Given the description of an element on the screen output the (x, y) to click on. 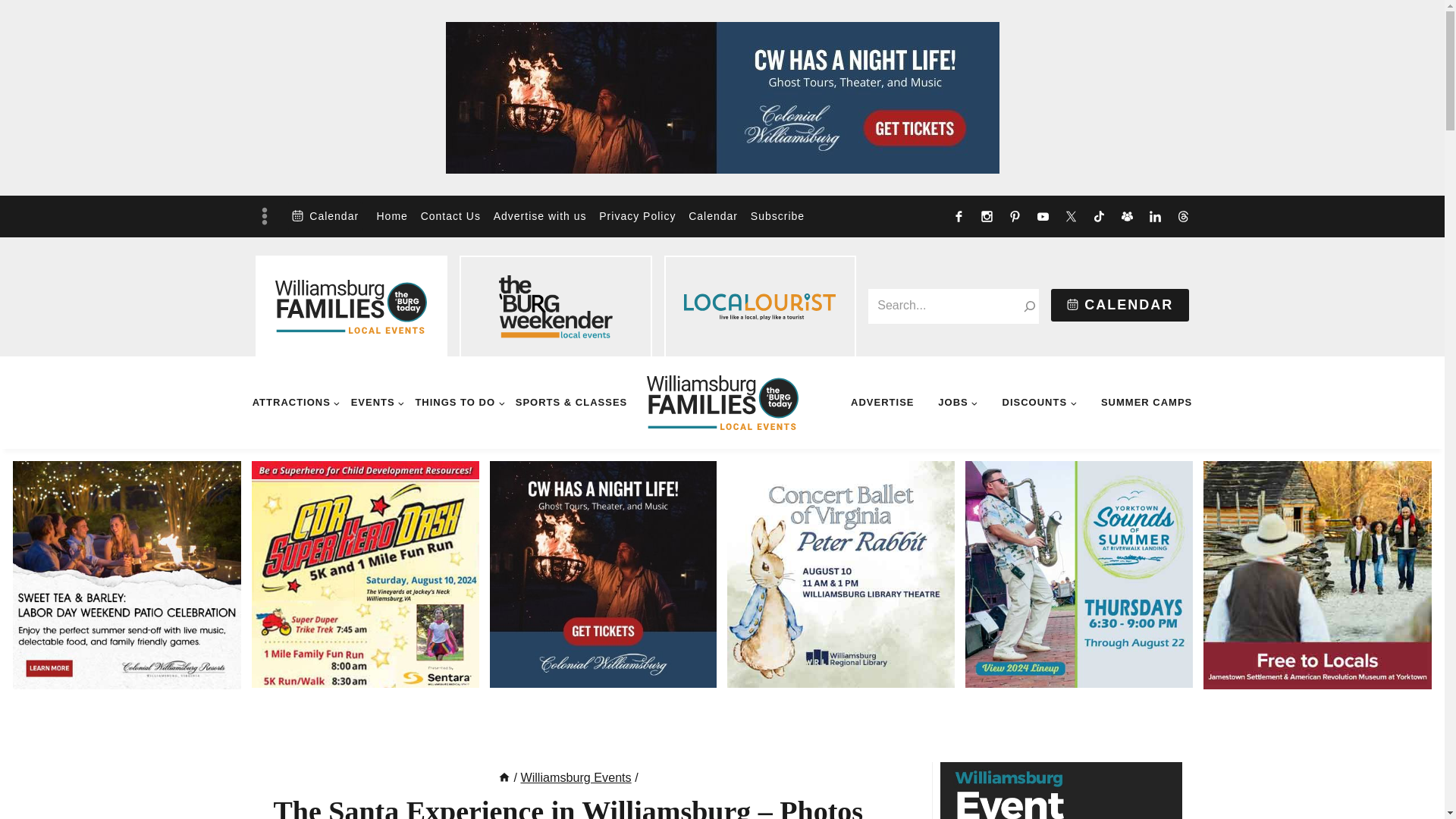
Subscribe (777, 216)
Calendar (325, 215)
CALENDAR (1120, 305)
Home (391, 216)
Privacy Policy (637, 216)
EVENTS (376, 402)
THINGS TO DO (459, 402)
Advertise with us (539, 216)
ATTRACTIONS (296, 402)
Contact Us (449, 216)
Calendar (713, 216)
